Given the description of an element on the screen output the (x, y) to click on. 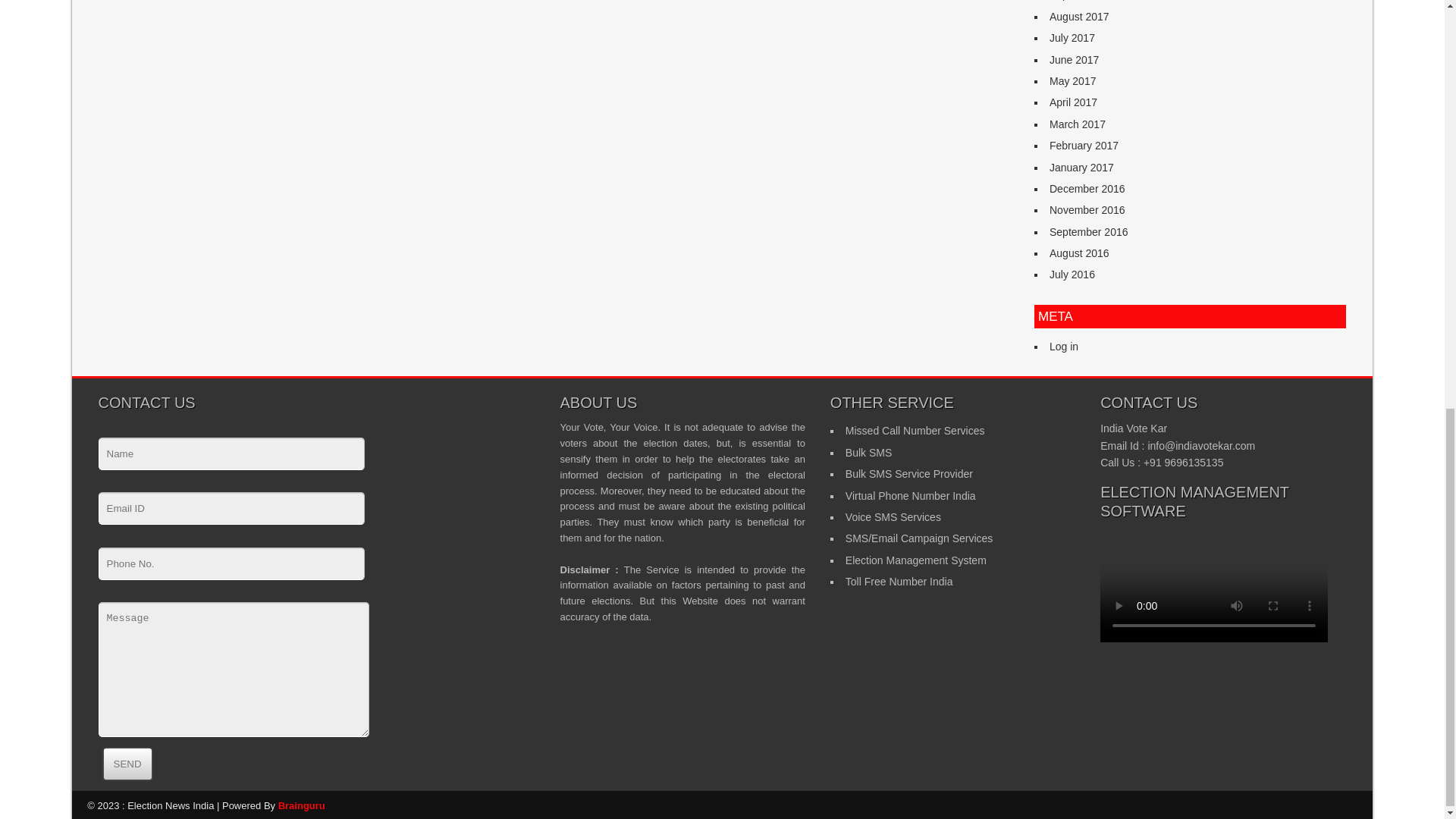
Send (127, 763)
